Given the description of an element on the screen output the (x, y) to click on. 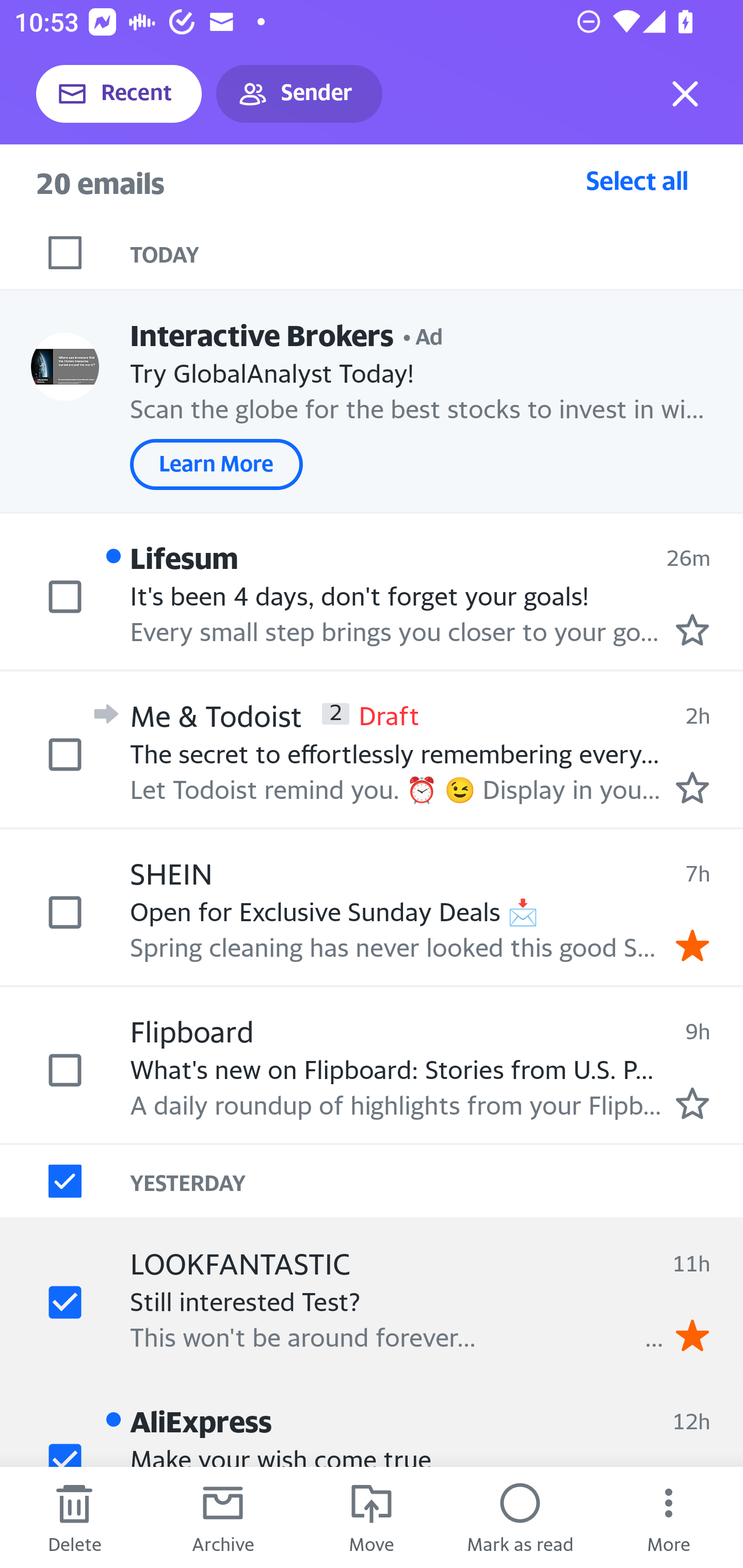
Sender (299, 93)
Exit selection mode (684, 93)
Select all (637, 180)
TODAY (436, 252)
• Ad (422, 334)
Mark as starred. (692, 629)
Mark as starred. (692, 787)
Remove star. (692, 944)
Mark as starred. (692, 1103)
YESTERDAY (436, 1181)
Remove star. (692, 1335)
Delete (74, 1517)
Archive (222, 1517)
Move (371, 1517)
Mark as read (519, 1517)
More (668, 1517)
